Given the description of an element on the screen output the (x, y) to click on. 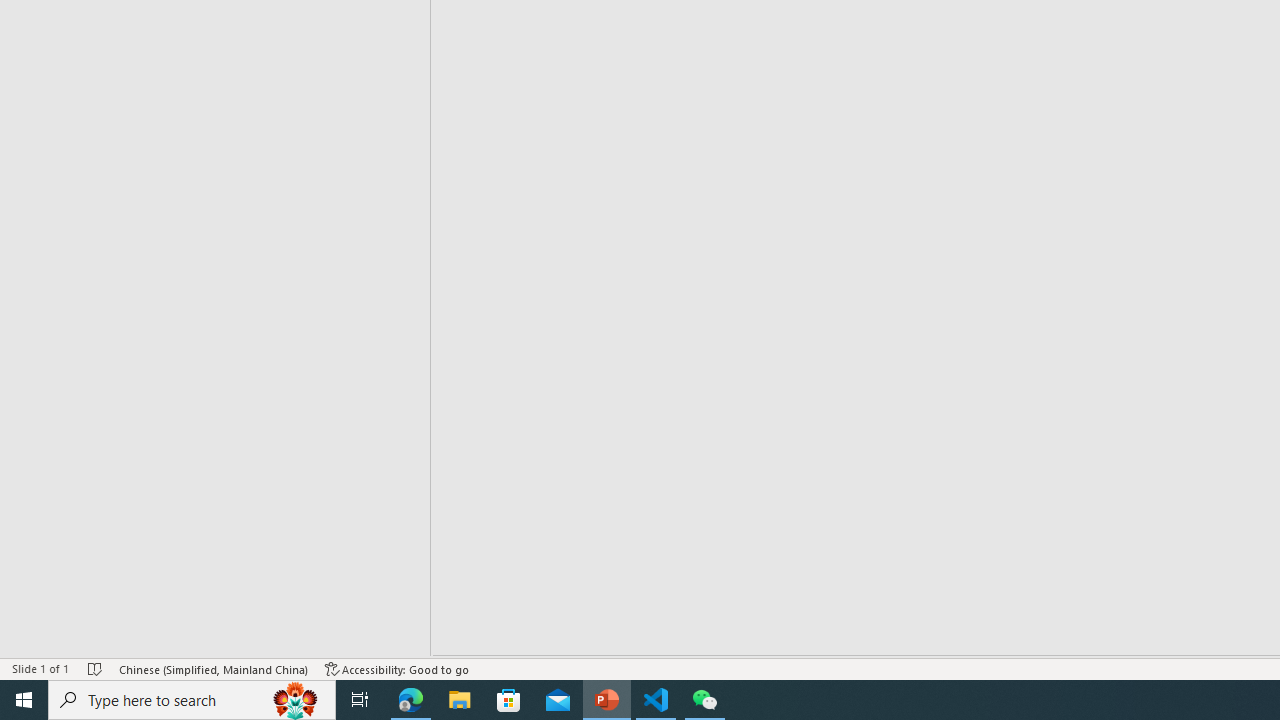
Accessibility Checker Accessibility: Good to go (397, 668)
